Given the description of an element on the screen output the (x, y) to click on. 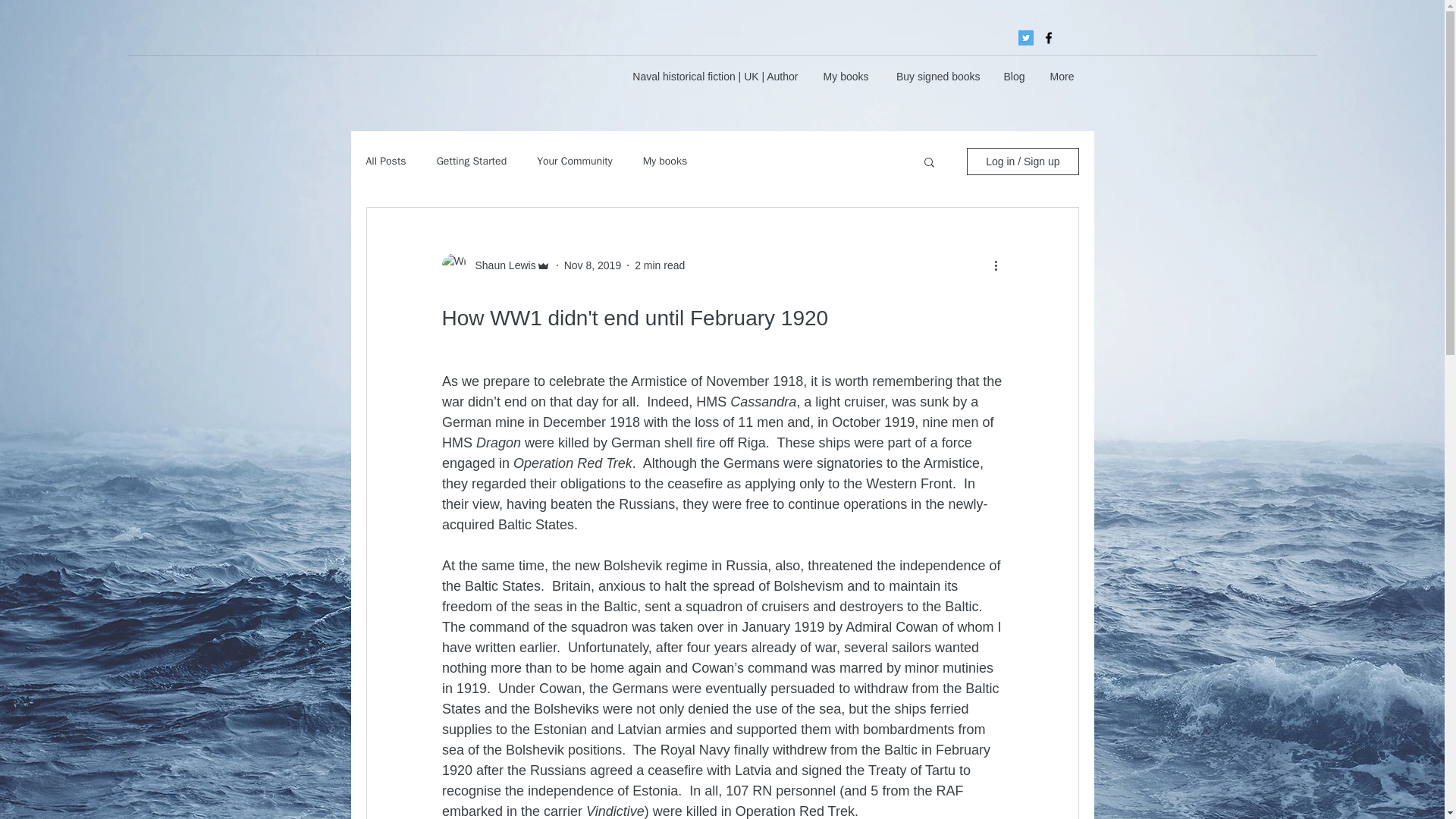
My books (844, 76)
All Posts (385, 161)
Shaun Lewis (500, 265)
Getting Started (471, 161)
Your Community (574, 161)
Nov 8, 2019 (592, 265)
Blog (1013, 76)
2 min read (659, 265)
My books (665, 161)
Buy signed books (935, 76)
